Given the description of an element on the screen output the (x, y) to click on. 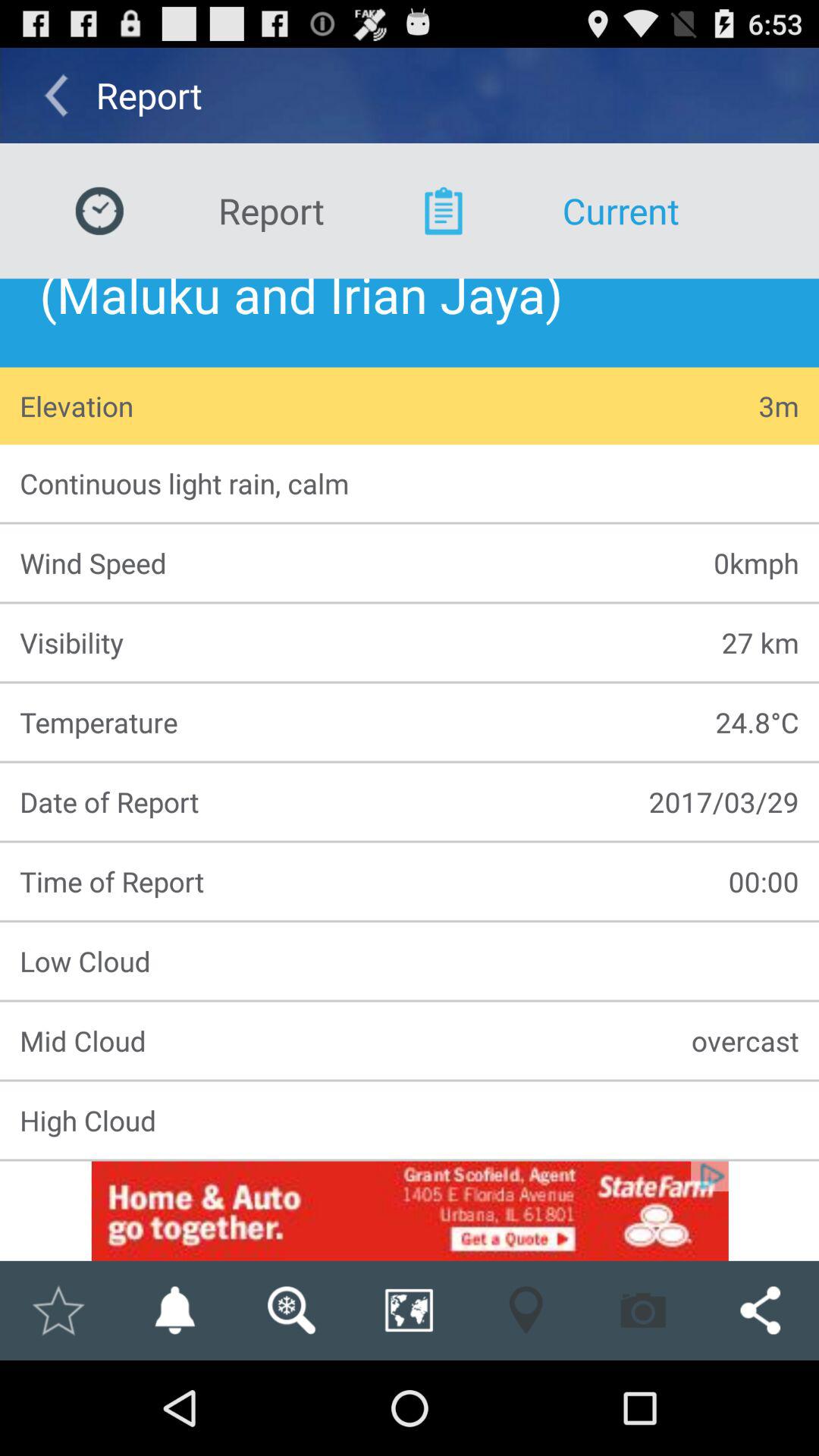
toggle keyword search option (291, 1310)
